Given the description of an element on the screen output the (x, y) to click on. 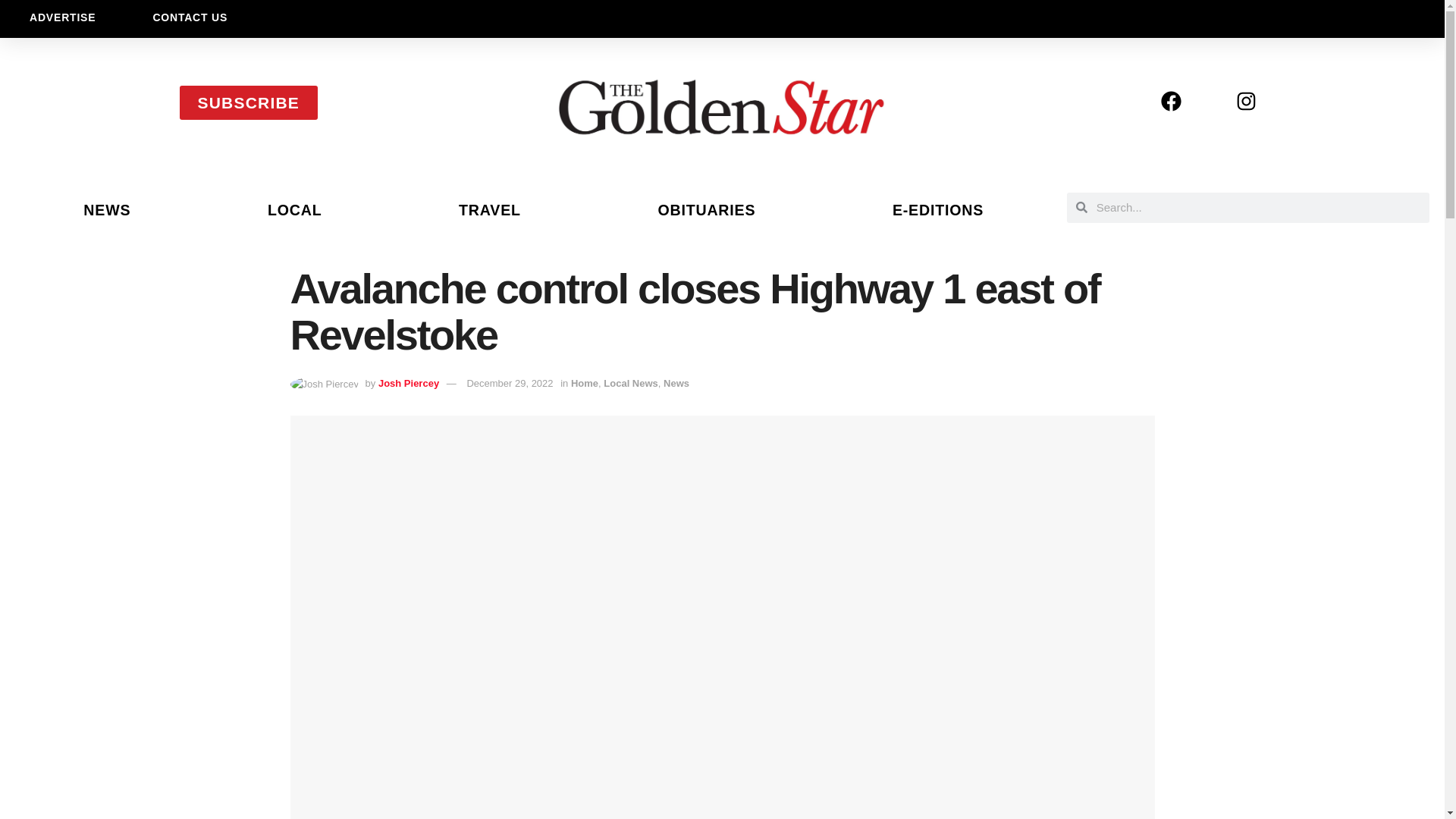
OBITUARIES (706, 209)
NEWS (106, 209)
ADVERTISE (62, 17)
LOCAL (294, 209)
E-EDITIONS (938, 209)
News (675, 383)
Home (584, 383)
CONTACT US (189, 17)
SUBSCRIBE (248, 102)
December 29, 2022 (509, 383)
